Given the description of an element on the screen output the (x, y) to click on. 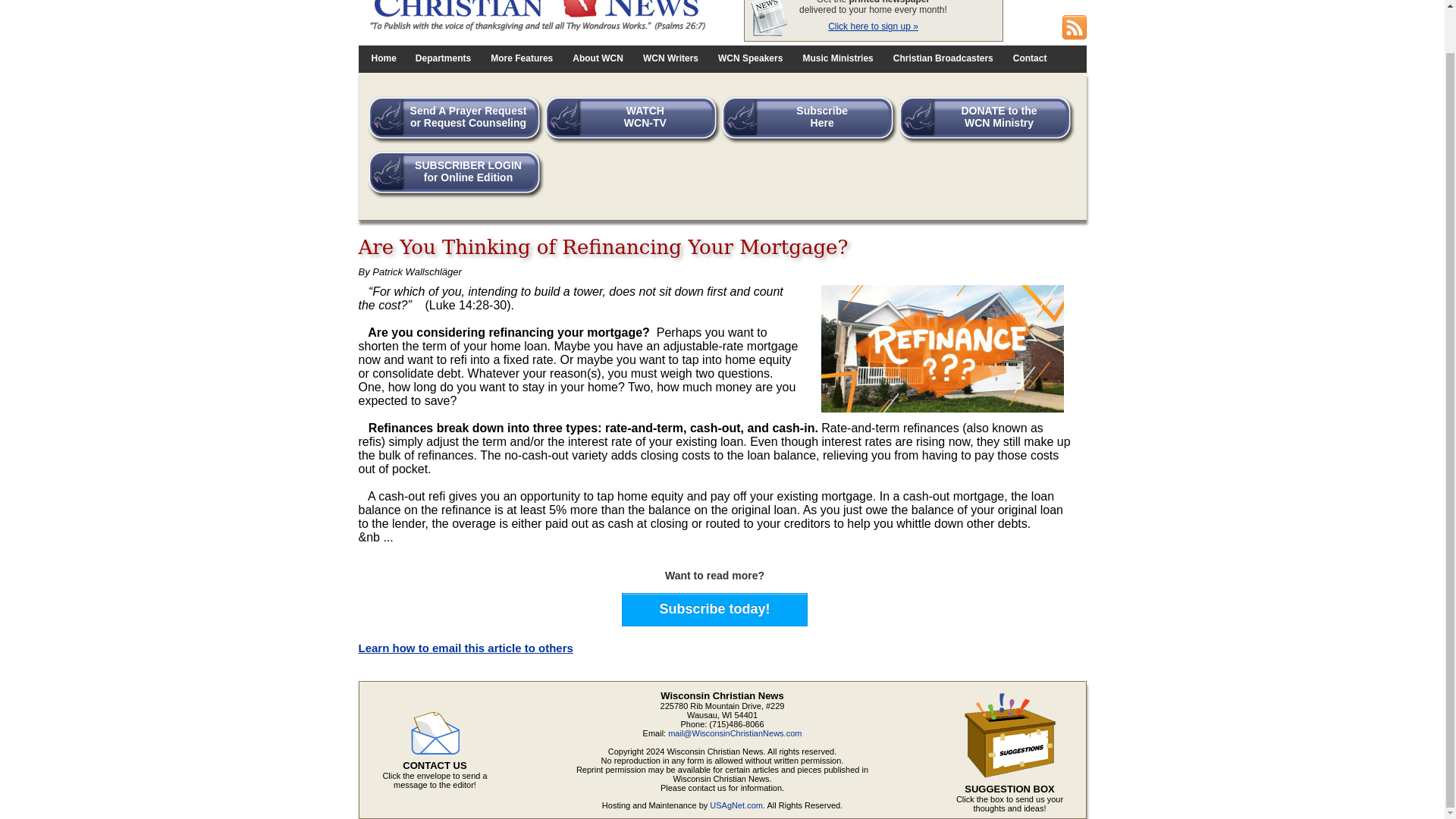
Contact (1030, 58)
Page (1030, 58)
About WCN (597, 58)
More Features (521, 58)
WCN Speakers (750, 58)
Subscribe today! (637, 122)
Christian Broadcasters (713, 608)
Music Ministries (459, 176)
Music Ministries (813, 122)
Home (943, 58)
